Given the description of an element on the screen output the (x, y) to click on. 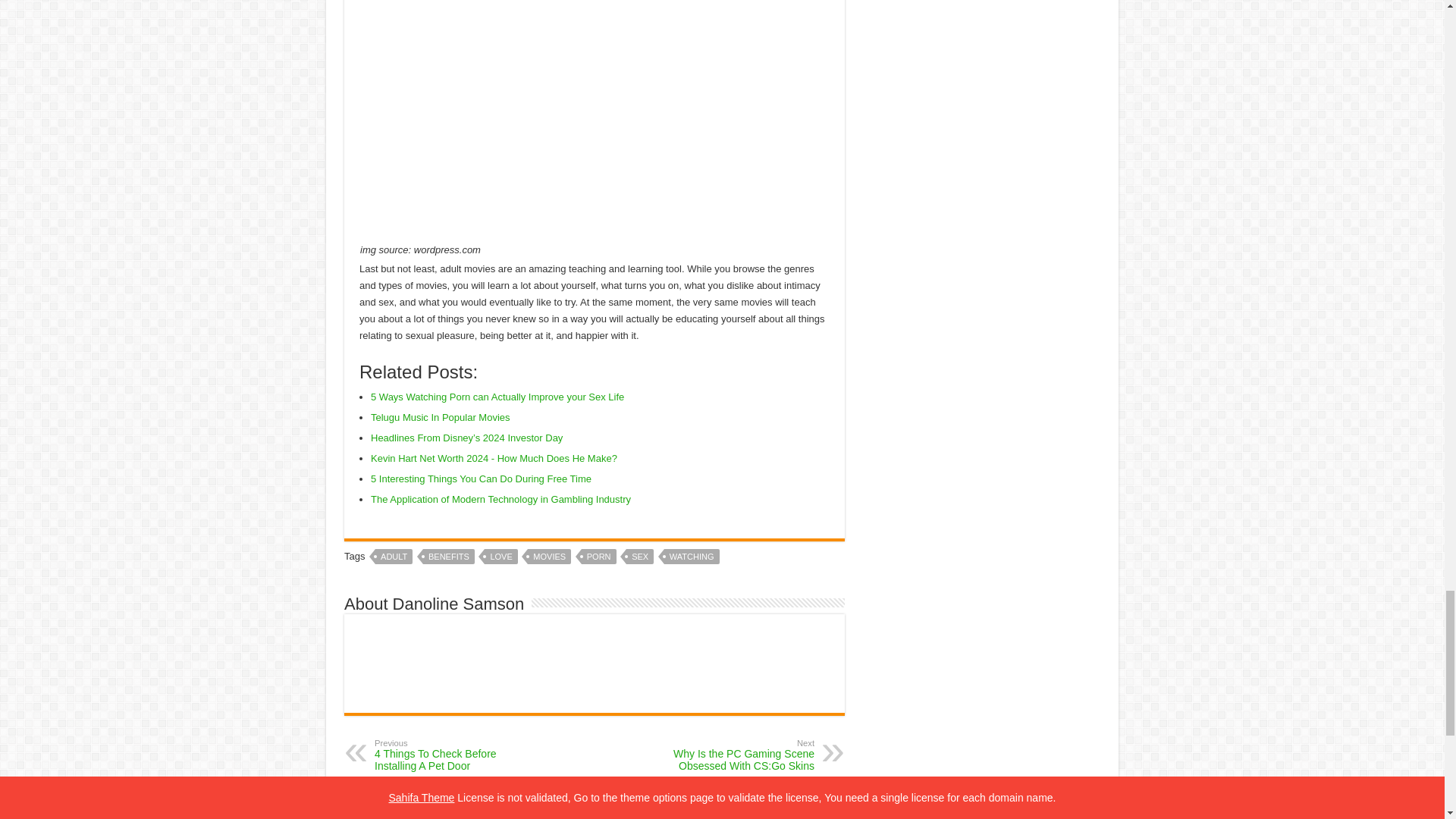
The Application of Modern Technology in Gambling Industry (500, 499)
5 Ways Watching Porn can Actually Improve your Sex Life (497, 396)
ADULT (393, 556)
Kevin Hart Net Worth 2024 - How Much Does He Make? (494, 458)
5 Interesting Things You Can Do During Free Time (481, 478)
WATCHING (691, 556)
Telugu Music In Popular Movies (441, 417)
MOVIES (548, 556)
SEX (639, 556)
PORN (597, 556)
BENEFITS (448, 556)
LOVE (500, 556)
